Given the description of an element on the screen output the (x, y) to click on. 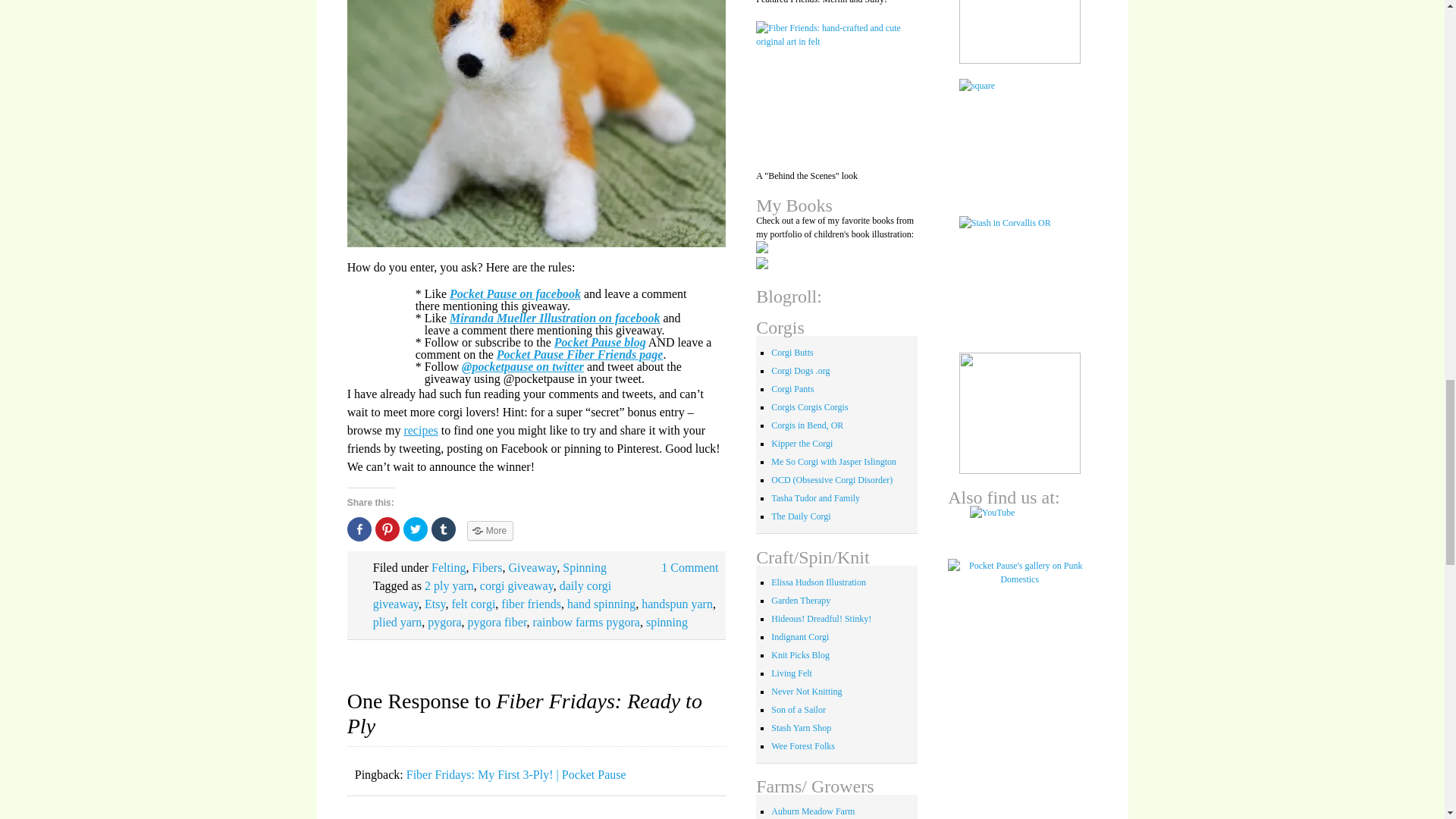
Share on Facebook (359, 528)
Recipes (420, 429)
1 Comment (689, 567)
Felting (447, 567)
Spinning (584, 567)
corgi giveaway (516, 585)
Click to share on Twitter (415, 528)
Pocket Pause Fiber Friends page (579, 353)
recipes (420, 429)
Fibers (486, 567)
